Given the description of an element on the screen output the (x, y) to click on. 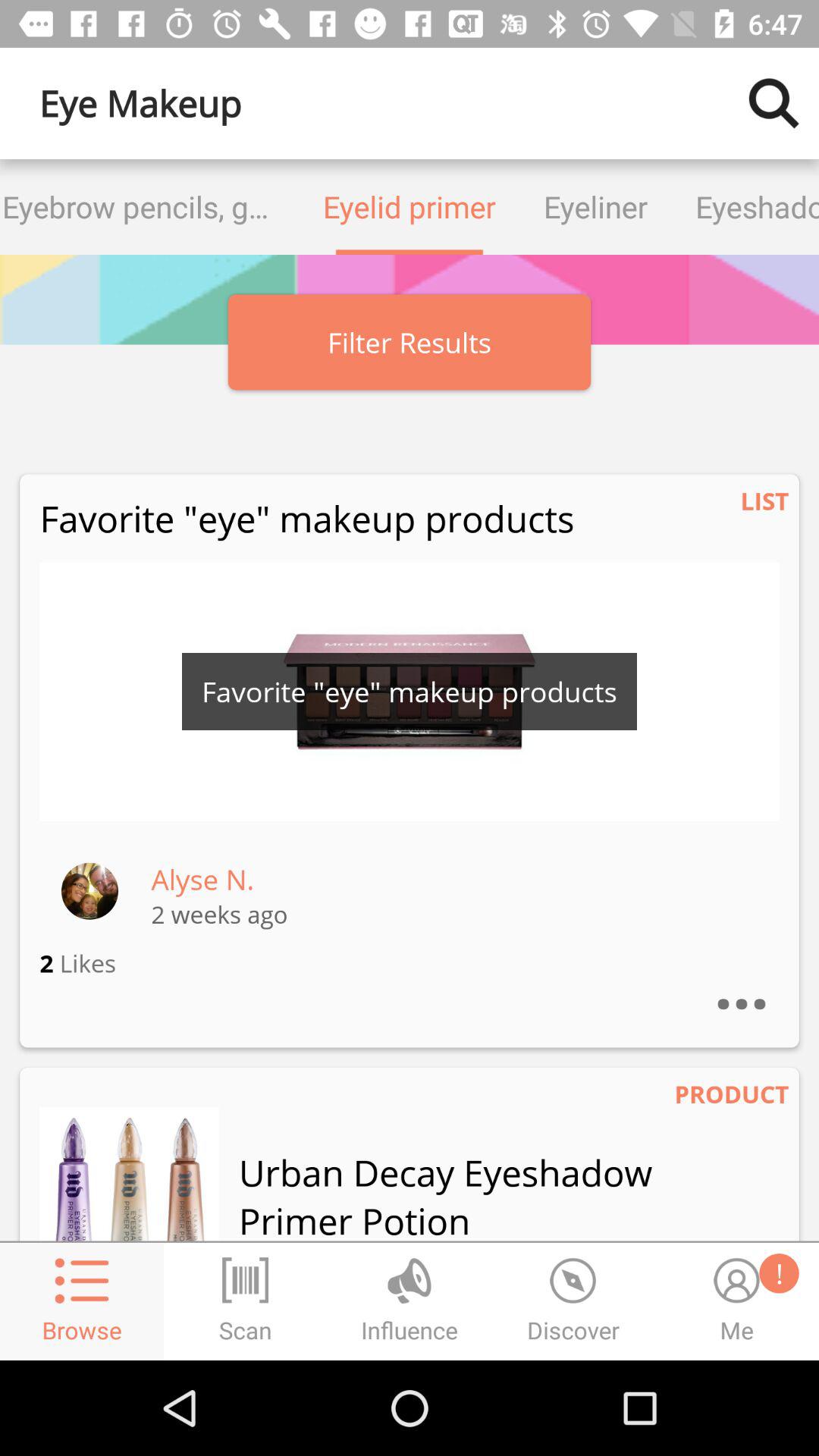
select the option  influence in the bottom of the screen (409, 1280)
